Given the description of an element on the screen output the (x, y) to click on. 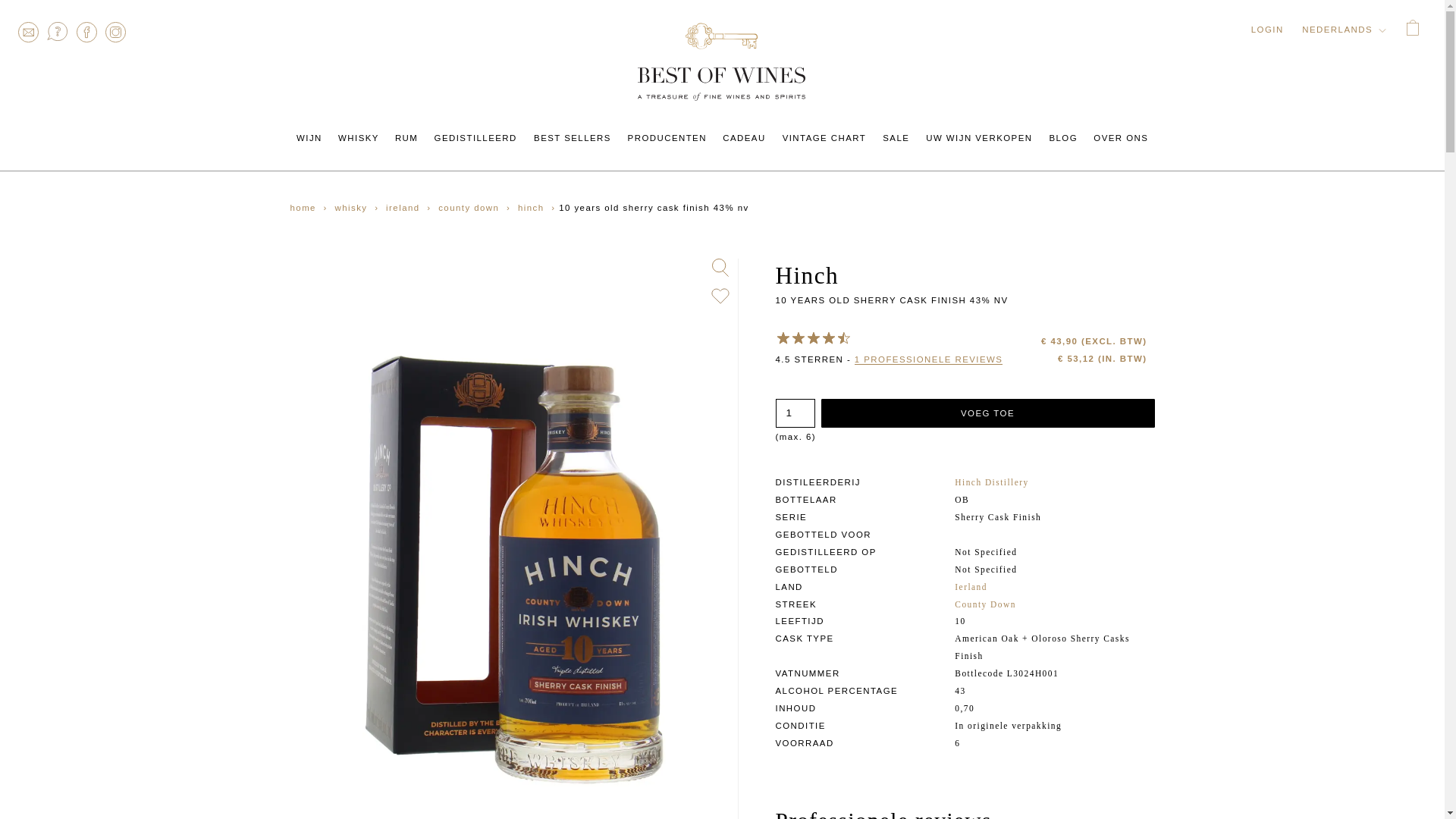
Ierland (971, 586)
CADEAU (744, 138)
INSTAGRAM (116, 31)
Vintage chart (824, 138)
home (303, 207)
1 (793, 412)
county down (467, 207)
Hinch Distillery (991, 481)
UW WIJN VERKOPEN (979, 138)
Facebook (86, 31)
